Given the description of an element on the screen output the (x, y) to click on. 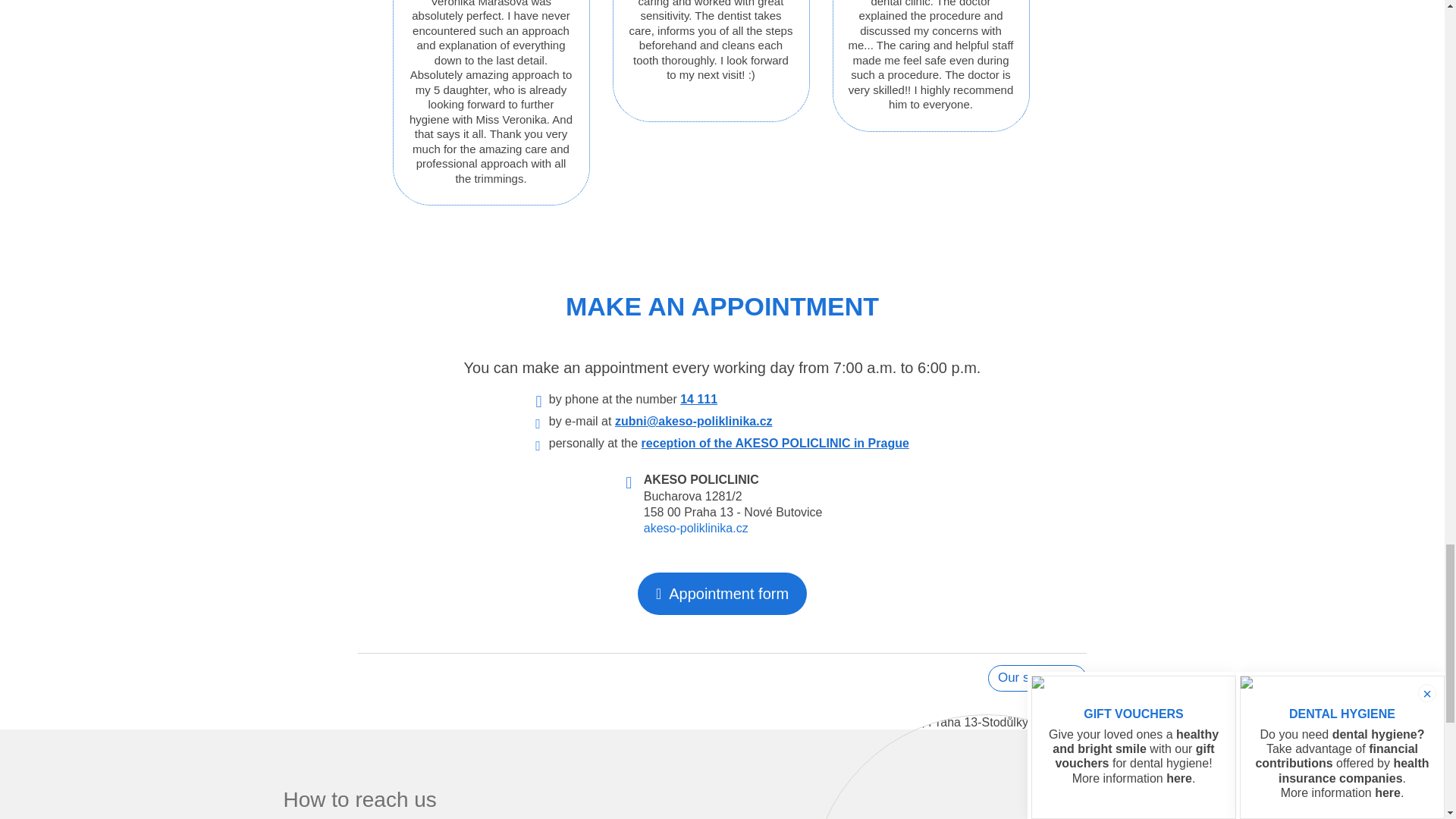
Appointment form (721, 593)
Book appointment online (721, 593)
reception of the AKESO POLICLINIC in Prague (775, 442)
14 111 (698, 399)
akeso-poliklinika.cz (695, 527)
